Given the description of an element on the screen output the (x, y) to click on. 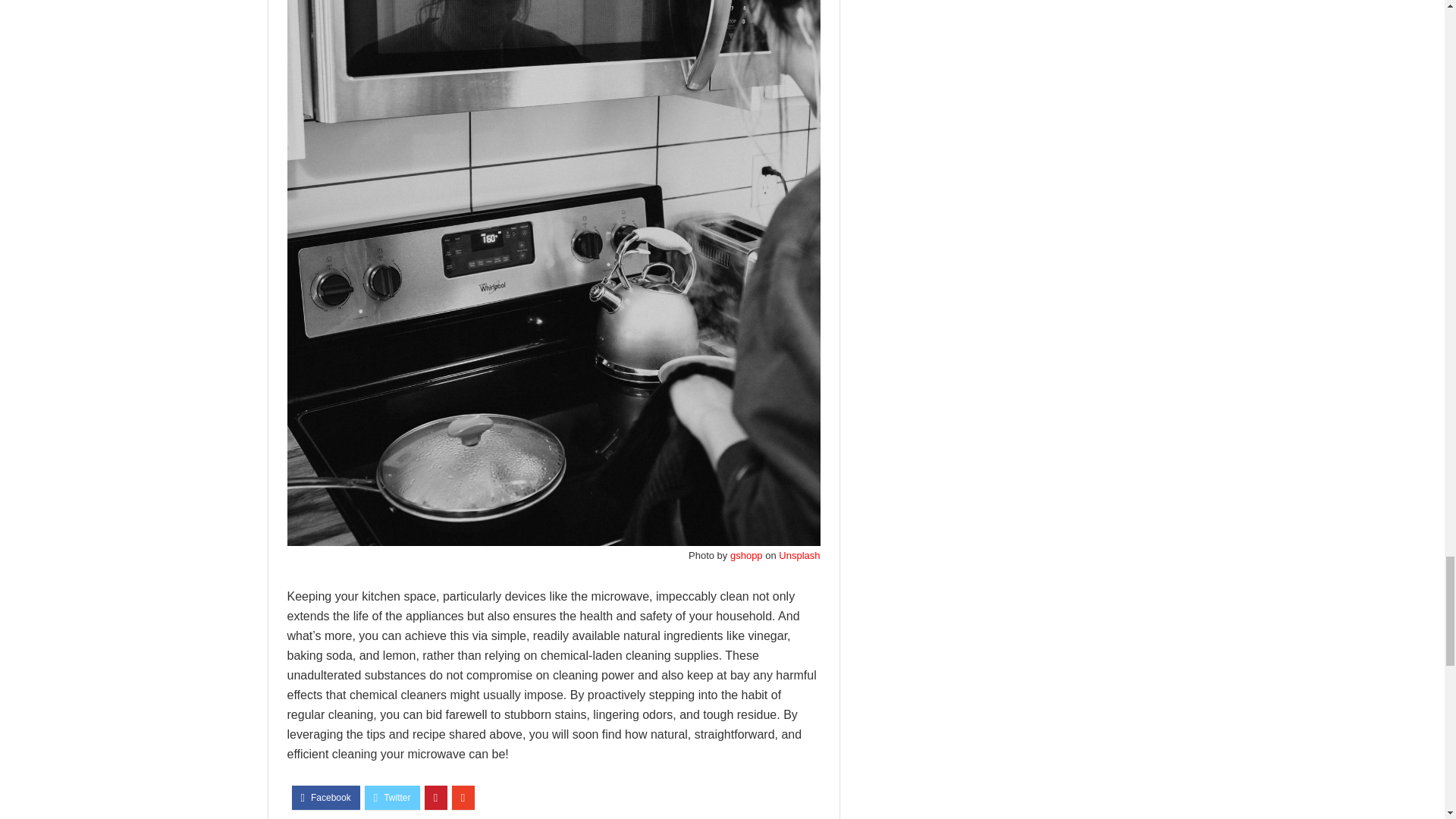
Unsplash (798, 555)
gshopp (746, 555)
